Given the description of an element on the screen output the (x, y) to click on. 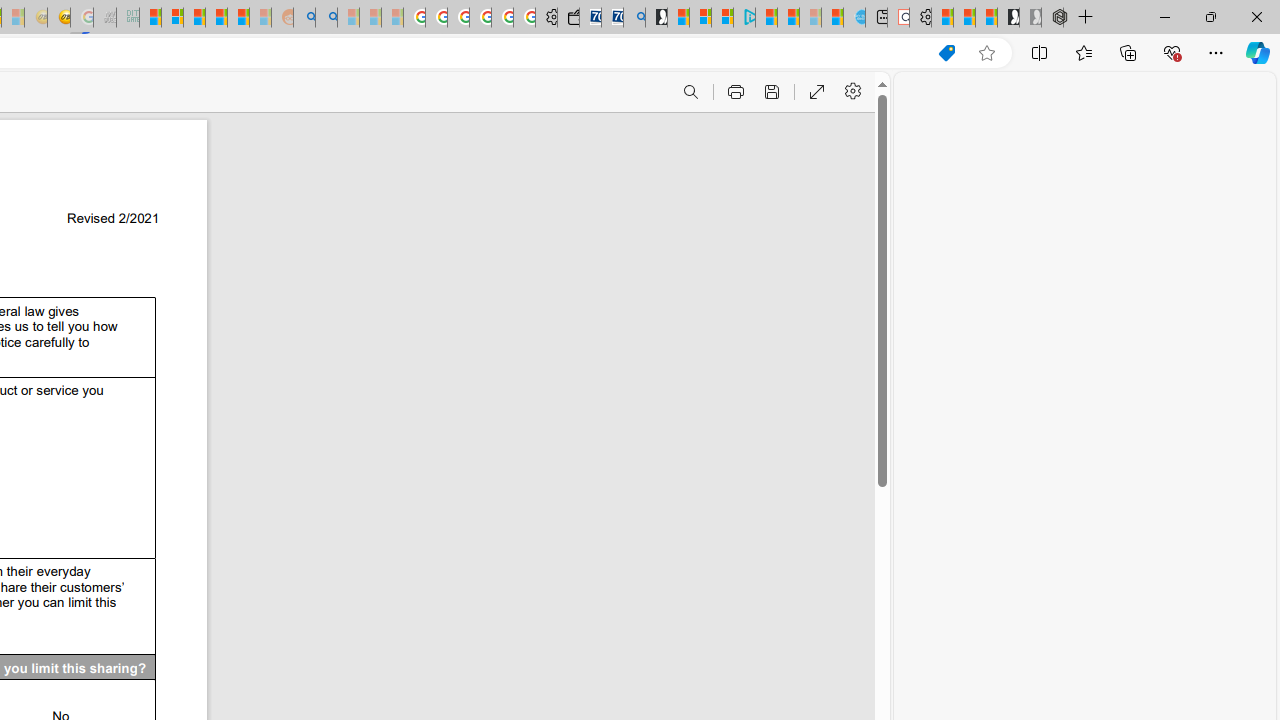
Nordace - Nordace Siena Is Not An Ordinary Backpack (1052, 17)
Enter PDF full screen (815, 92)
Home | Sky Blue Bikes - Sky Blue Bikes (854, 17)
Microsoft Start - Sleeping (810, 17)
Shopping in Microsoft Edge (946, 53)
Utah sues federal government - Search (326, 17)
Print (Ctrl+P) (734, 92)
